Given the description of an element on the screen output the (x, y) to click on. 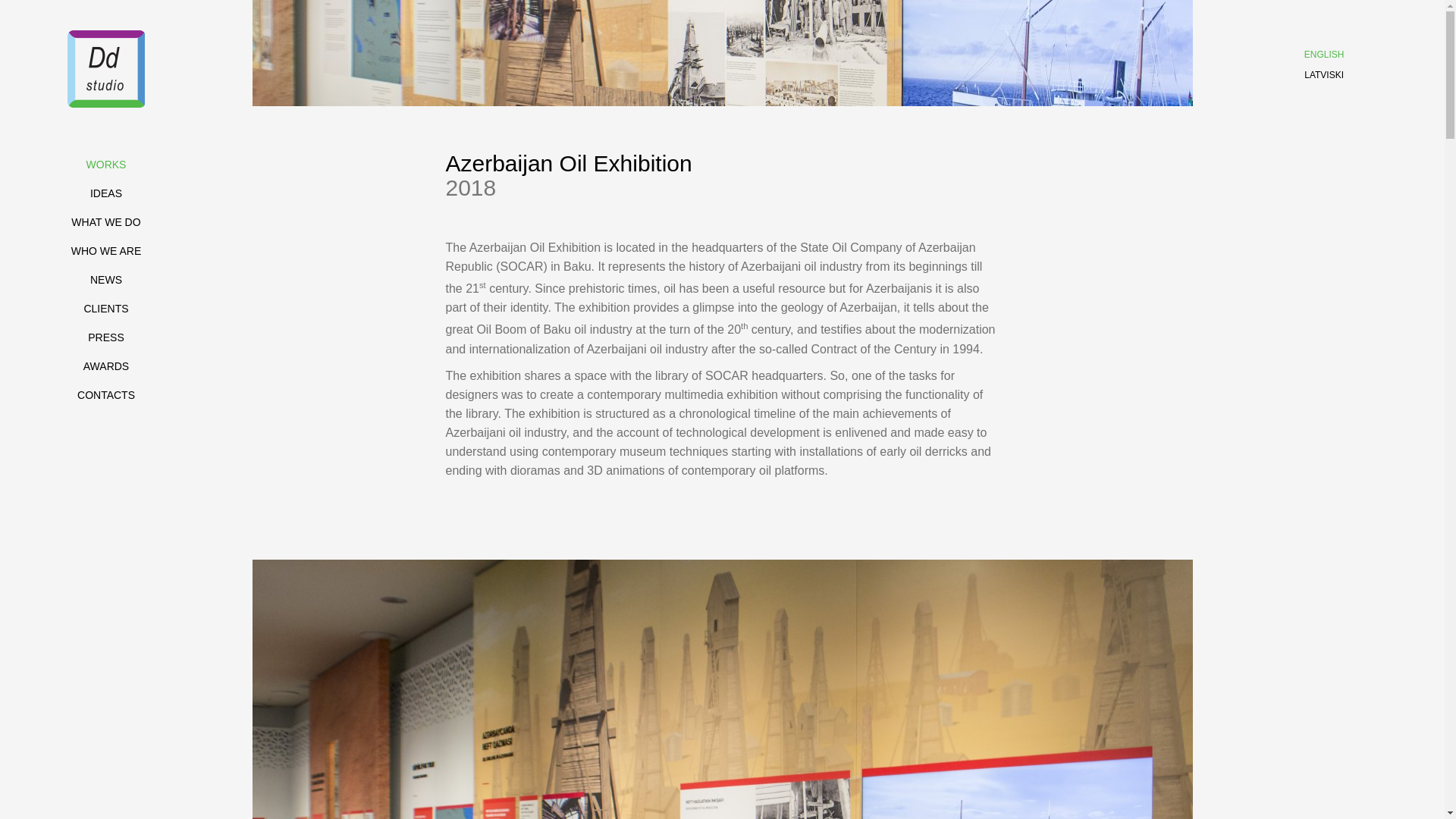
PRESS (105, 337)
WHO WE ARE (106, 250)
IDEAS (106, 193)
NEWS (106, 279)
CLIENTS (105, 308)
WORKS (105, 164)
WHAT WE DO (105, 222)
AWARDS (105, 366)
CONTACTS (106, 395)
